Given the description of an element on the screen output the (x, y) to click on. 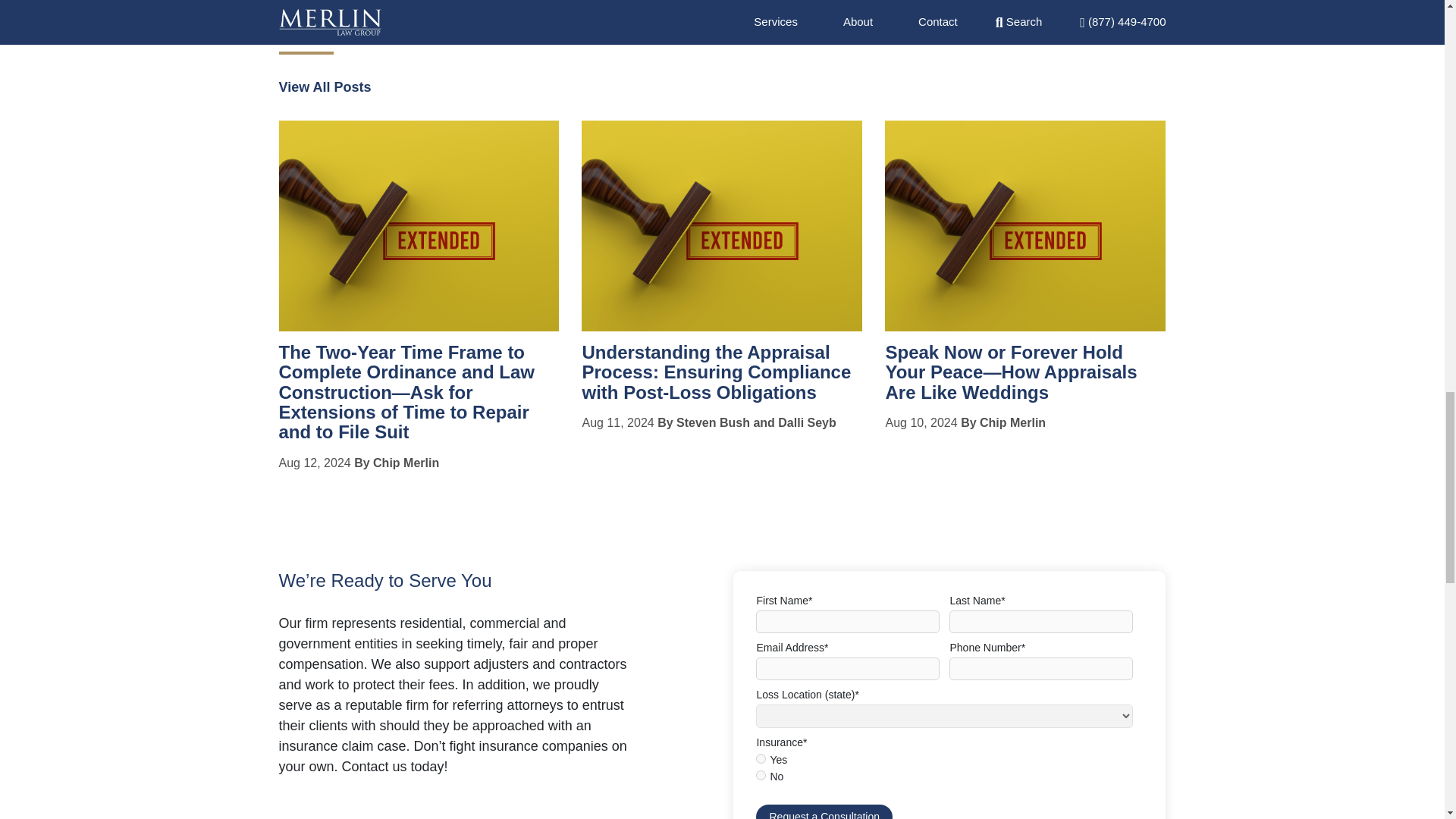
View All Posts (325, 87)
Yes (760, 758)
Request a Consultation (823, 811)
No (760, 775)
